Given the description of an element on the screen output the (x, y) to click on. 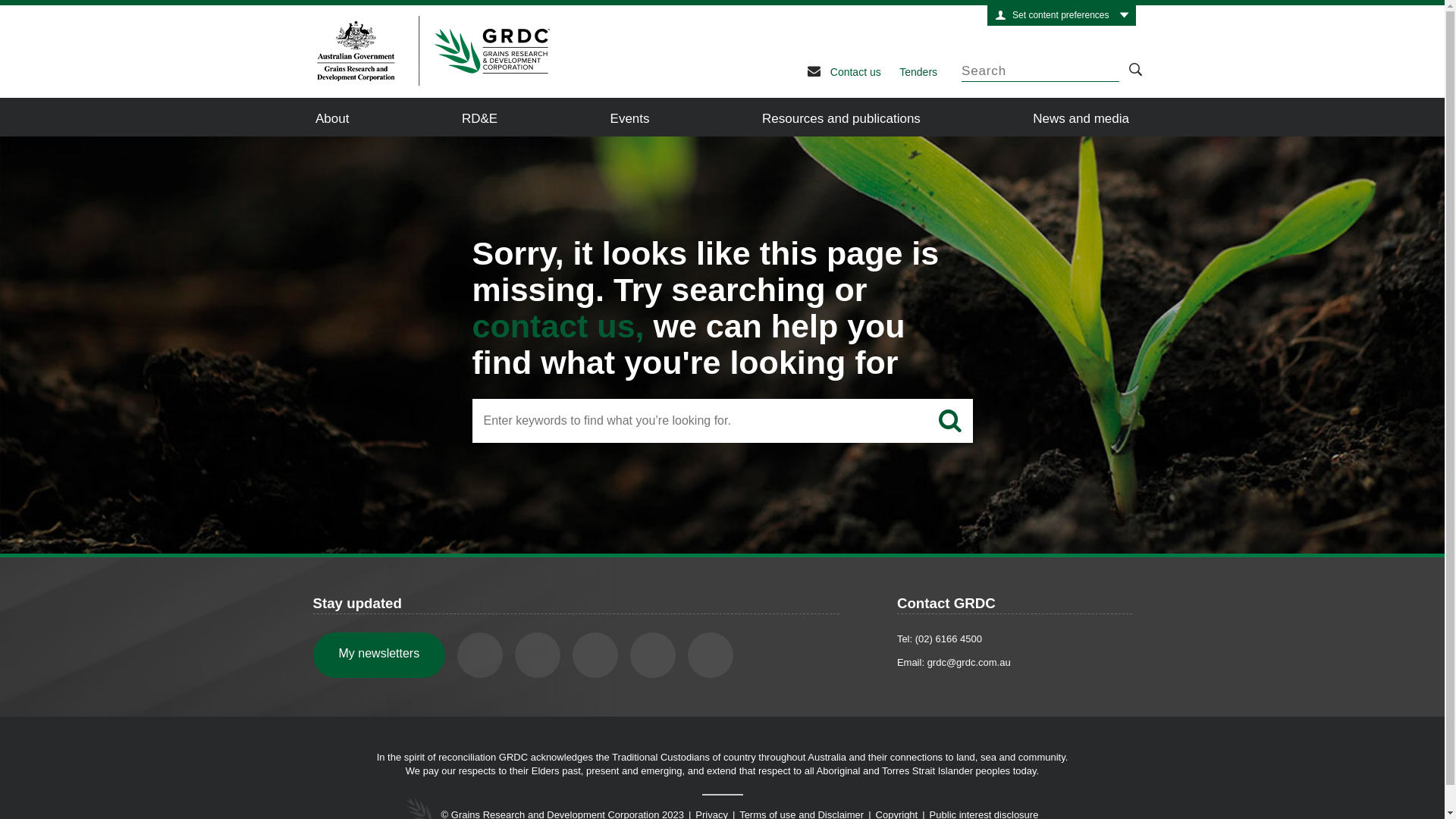
grdc@grdc.com.au Element type: text (968, 662)
Contact GRDC Element type: text (946, 603)
Stay updated Element type: text (356, 603)
Tenders Element type: text (918, 71)
contact us, Element type: text (557, 325)
RD&E Element type: text (479, 116)
My newsletters Element type: text (378, 654)
Search Element type: text (949, 420)
Resources and publications Element type: text (841, 116)
Grains Research & Development Corporation Element type: text (423, 50)
Search Element type: text (1134, 68)
Contact us Element type: text (855, 71)
About Element type: text (331, 116)
News and media Element type: text (1080, 116)
Set content preferences Element type: text (1061, 15)
Events Element type: text (629, 116)
